Given the description of an element on the screen output the (x, y) to click on. 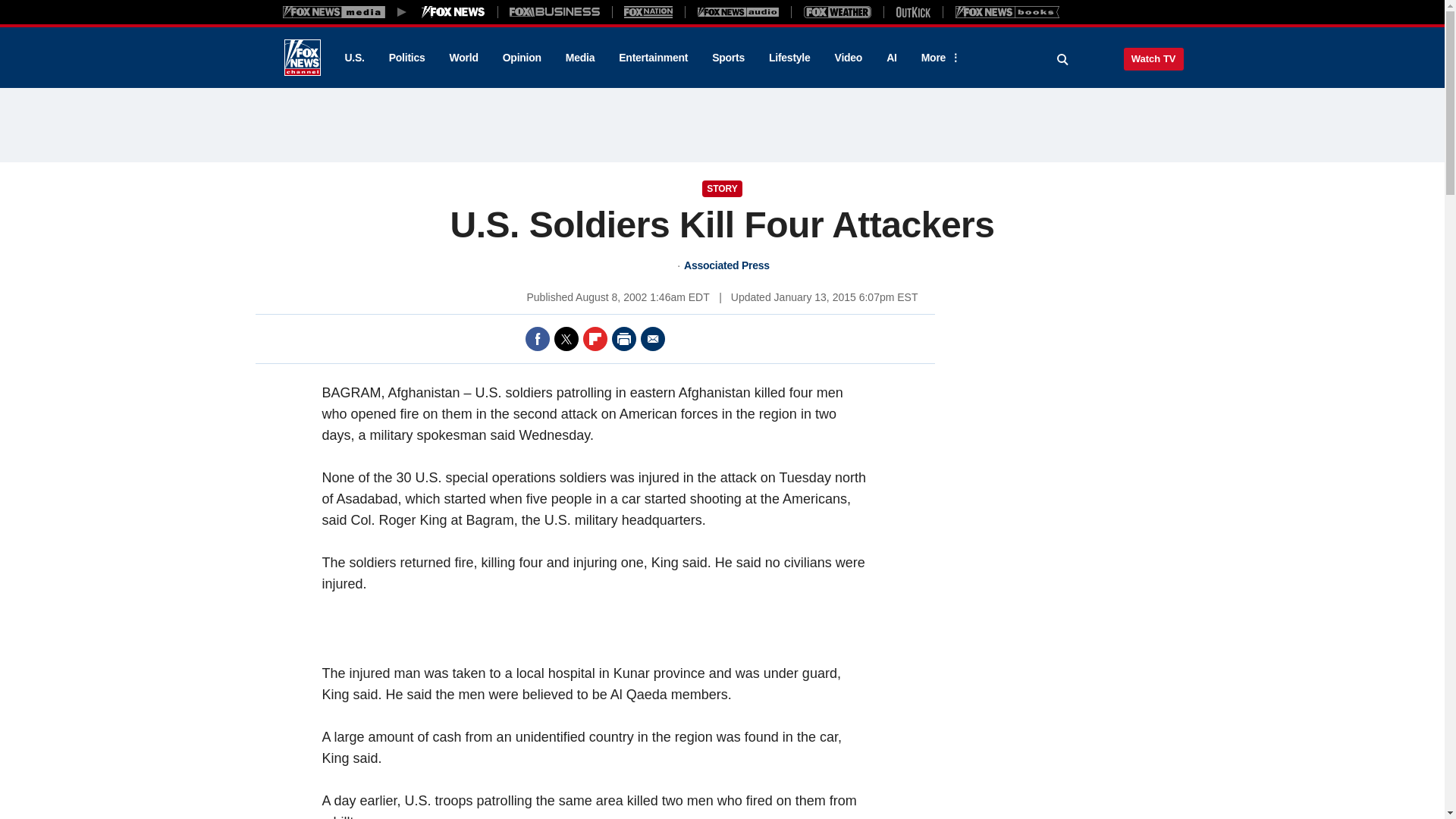
Fox News Media (453, 11)
Outkick (912, 11)
Politics (407, 57)
AI (891, 57)
Watch TV (1153, 58)
Fox Weather (836, 11)
Fox News Audio (737, 11)
Sports (728, 57)
Opinion (521, 57)
World (464, 57)
